Given the description of an element on the screen output the (x, y) to click on. 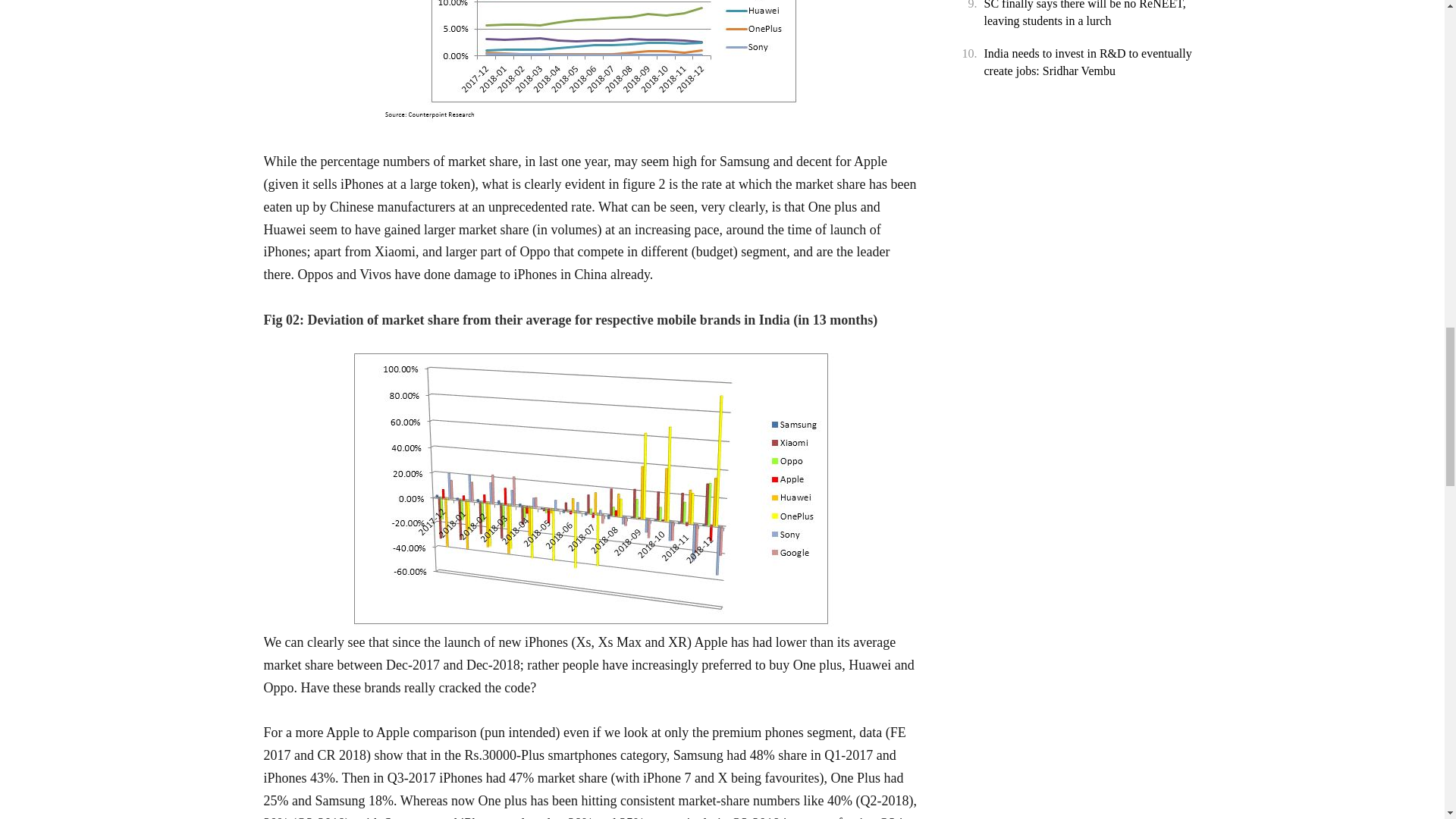
iPhones in India: From outstanding to an outlier (593, 63)
